Given the description of an element on the screen output the (x, y) to click on. 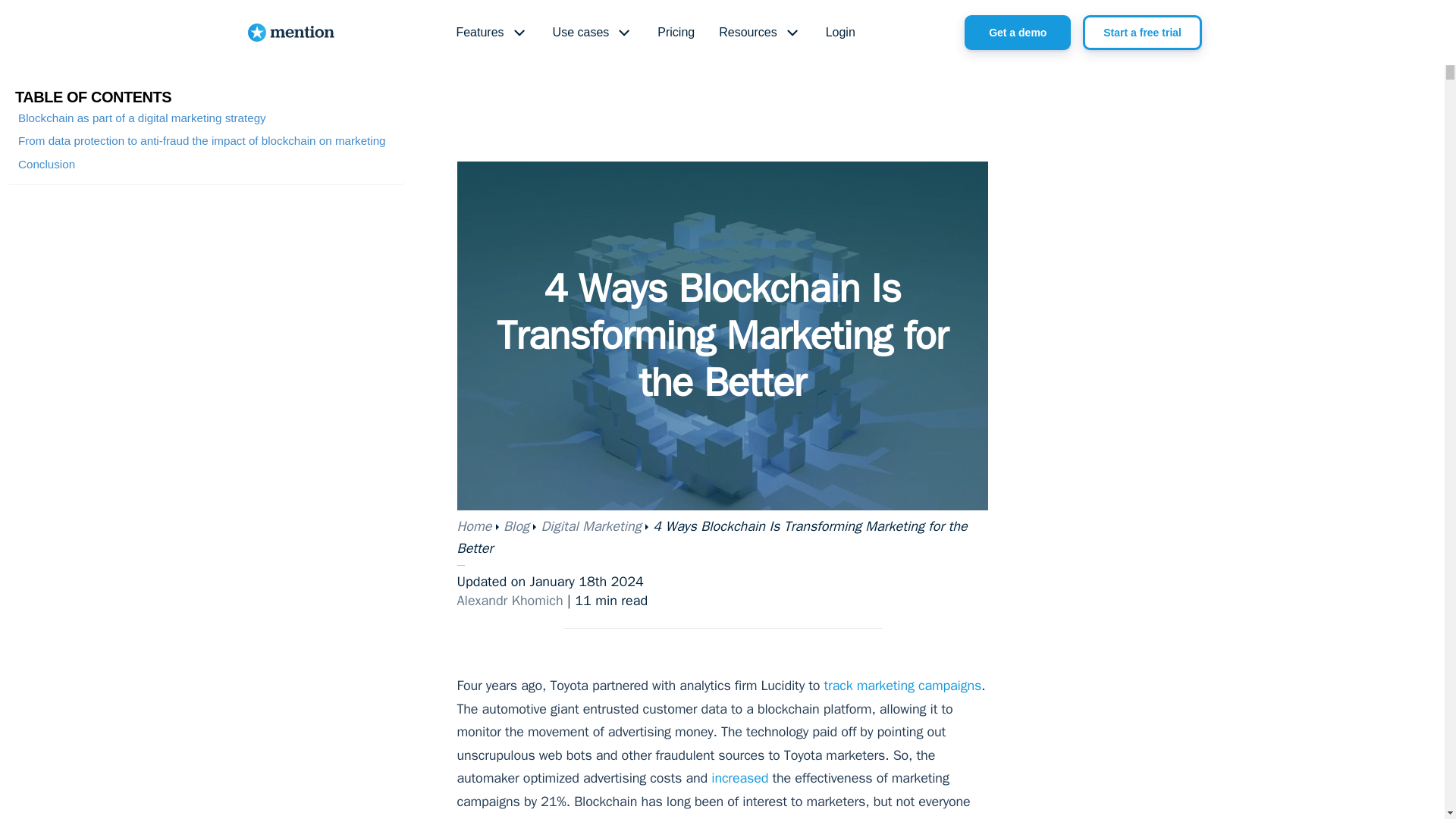
Blockchain as part of a digital marketing strategy (141, 117)
Pricing (675, 33)
Conclusion (46, 164)
